Given the description of an element on the screen output the (x, y) to click on. 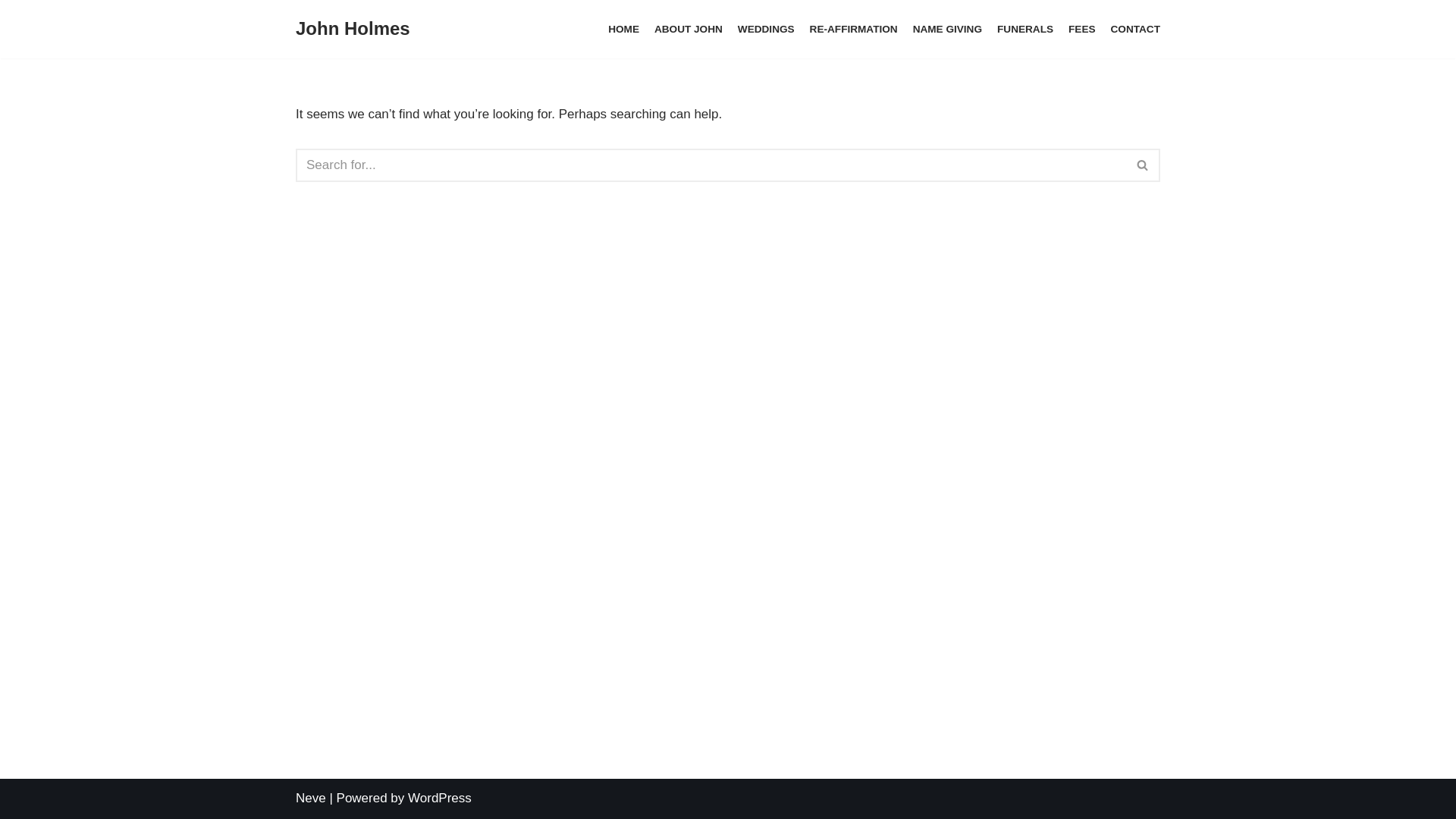
ABOUT JOHN Element type: text (688, 28)
FEES Element type: text (1081, 28)
RE-AFFIRMATION Element type: text (853, 28)
Neve Element type: text (310, 797)
WordPress Element type: text (439, 797)
NAME GIVING Element type: text (947, 28)
HOME Element type: text (623, 28)
Skip to content Element type: text (11, 31)
CONTACT Element type: text (1135, 28)
John Holmes Element type: text (352, 28)
FUNERALS Element type: text (1025, 28)
WEDDINGS Element type: text (765, 28)
